Given the description of an element on the screen output the (x, y) to click on. 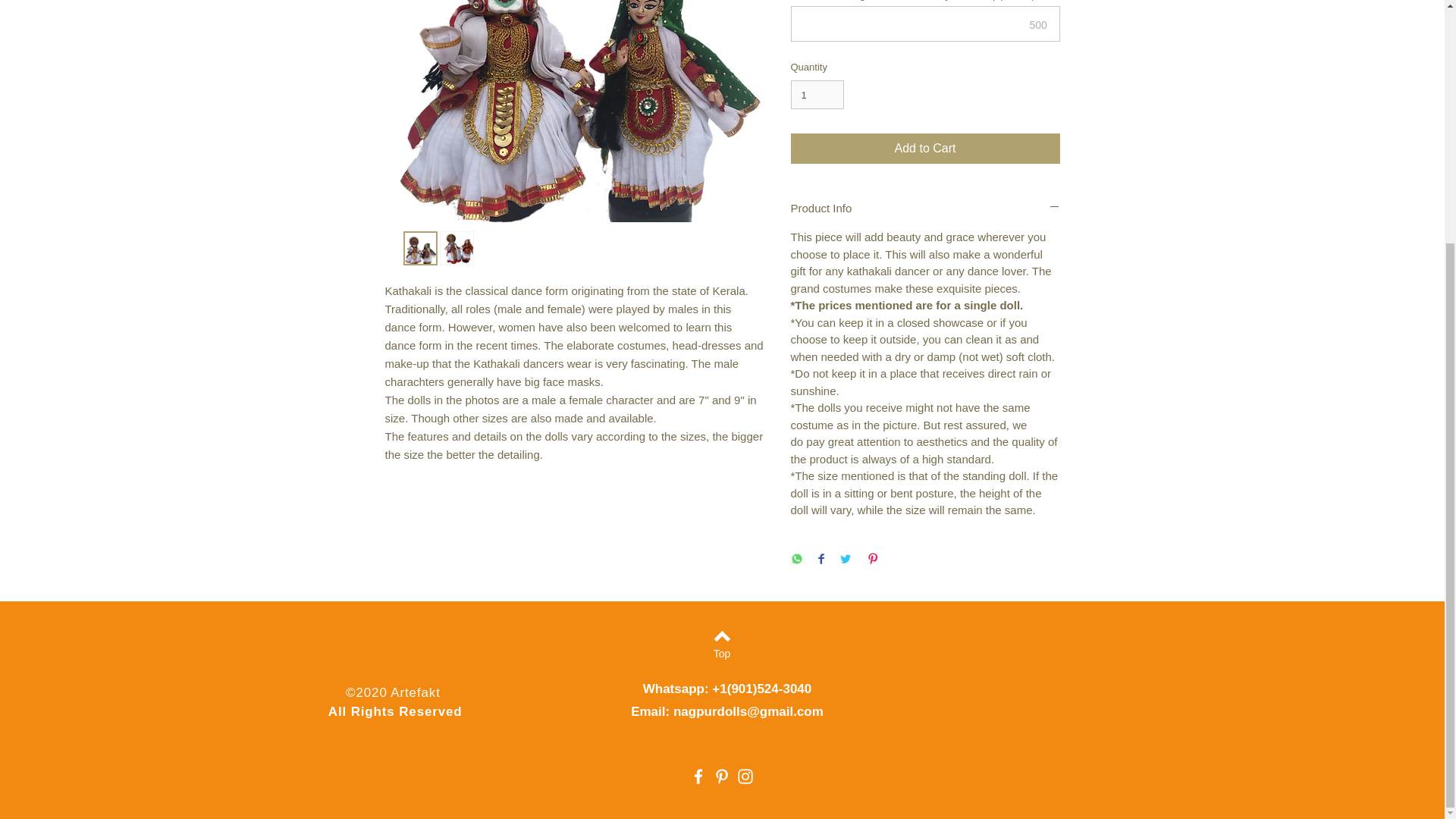
Top (721, 654)
1 (817, 94)
Product Info (924, 207)
Add to Cart (924, 148)
